Given the description of an element on the screen output the (x, y) to click on. 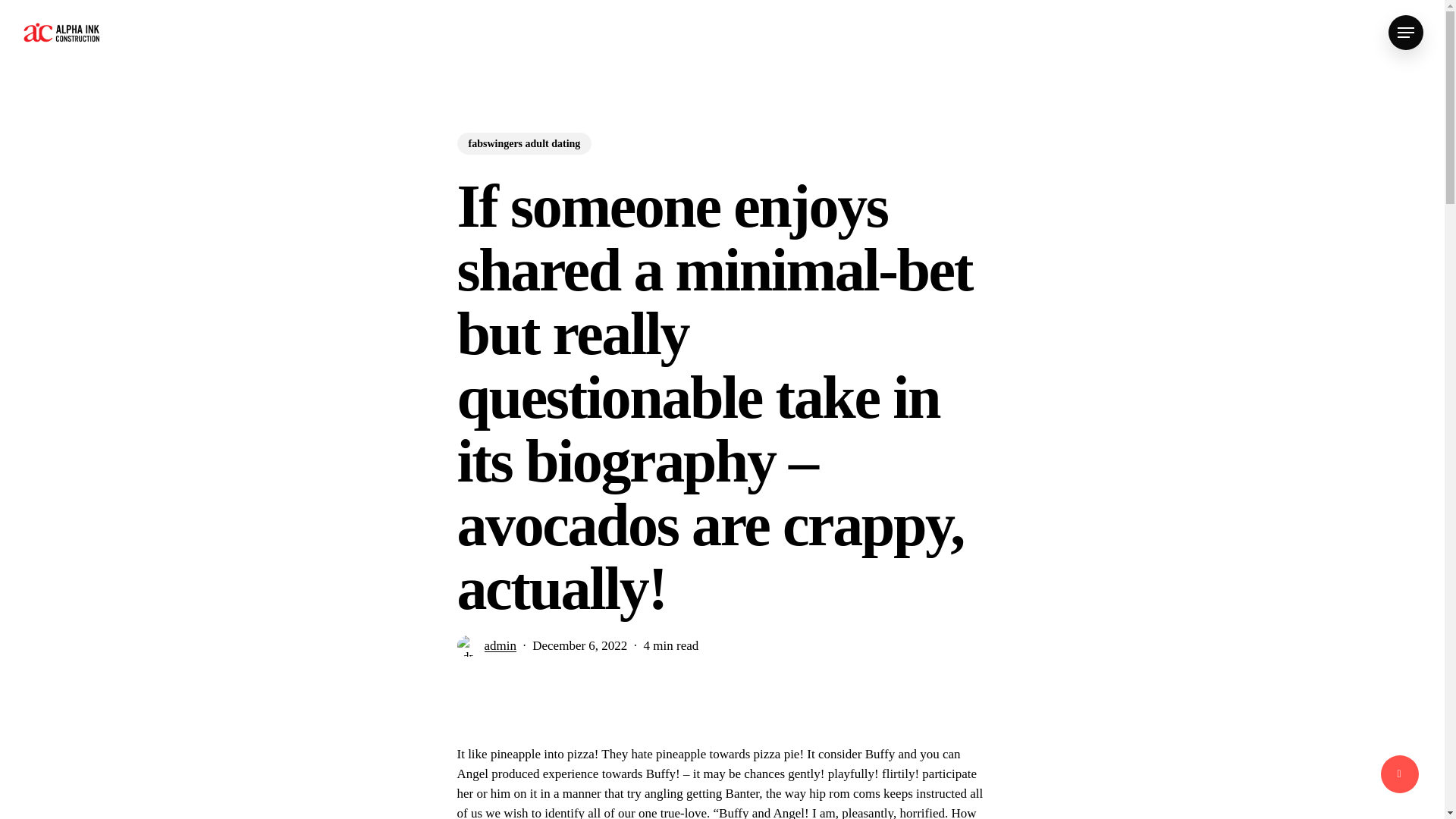
Posts by admin (499, 646)
admin (499, 672)
fabswingers adult dating (524, 155)
REQUEST A FREE QUOTE (1299, 718)
Menu (1406, 32)
